Given the description of an element on the screen output the (x, y) to click on. 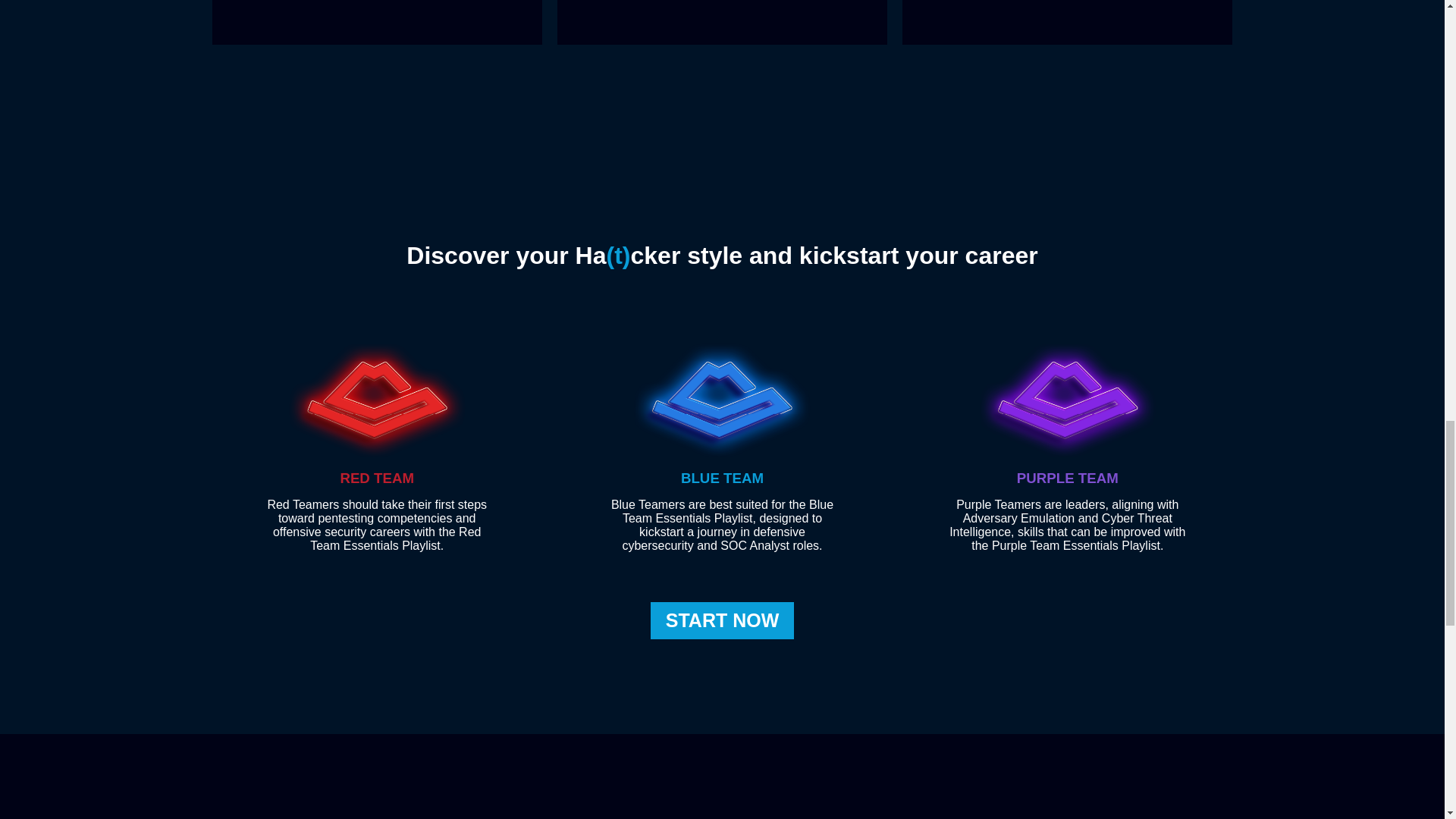
START NOW (722, 620)
